Given the description of an element on the screen output the (x, y) to click on. 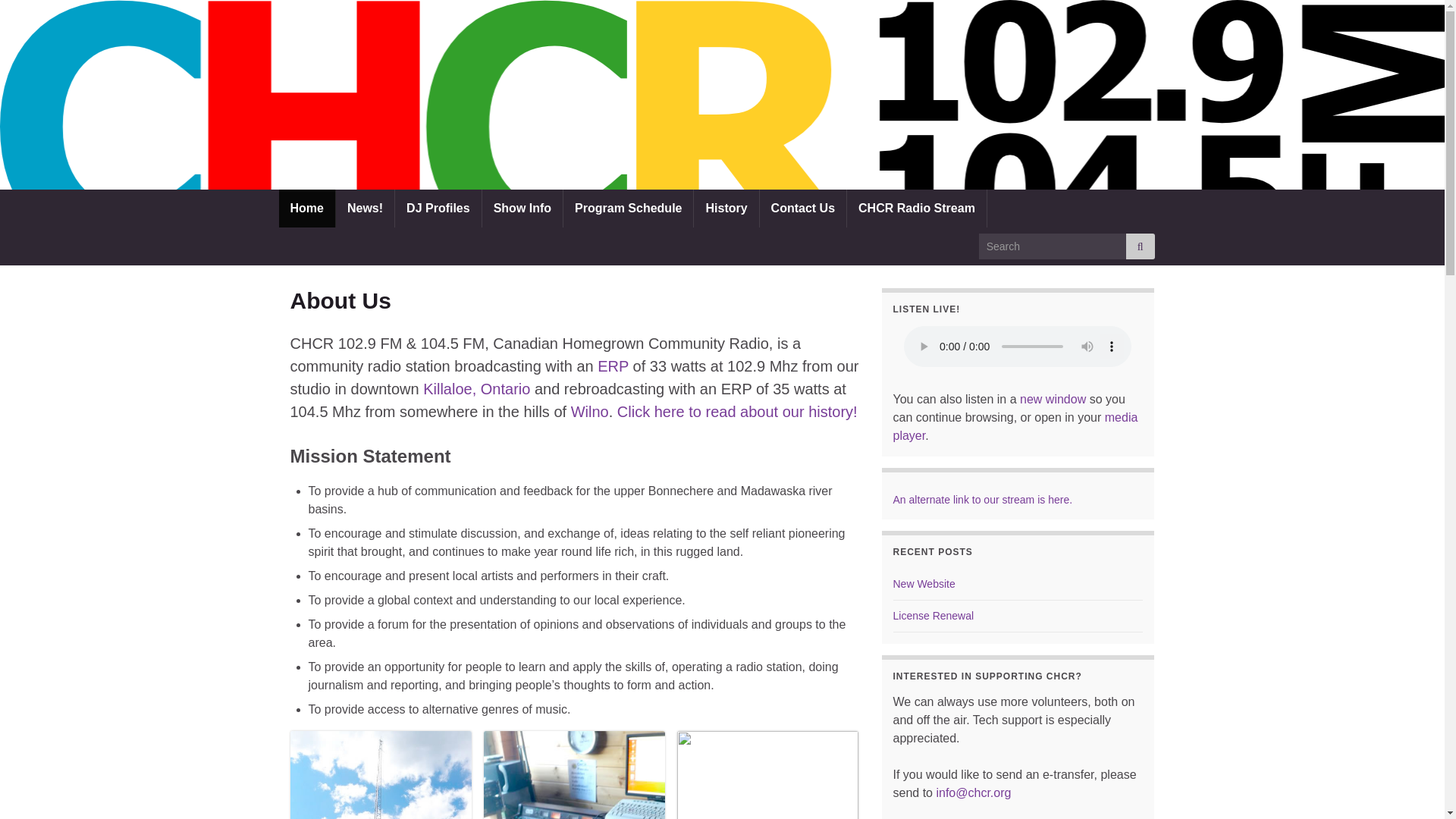
media player (1015, 426)
License Renewal (933, 615)
CHCR Radio Stream (917, 208)
Click here to read about our history! (737, 411)
Contact Us (802, 208)
DJ Profiles (437, 208)
new window (1053, 399)
News! (365, 208)
Home (306, 208)
History (726, 208)
New Website (924, 583)
Wilno (589, 411)
Program Schedule (628, 208)
An alternate link to our stream is here. (983, 499)
Show Info (521, 208)
